Given the description of an element on the screen output the (x, y) to click on. 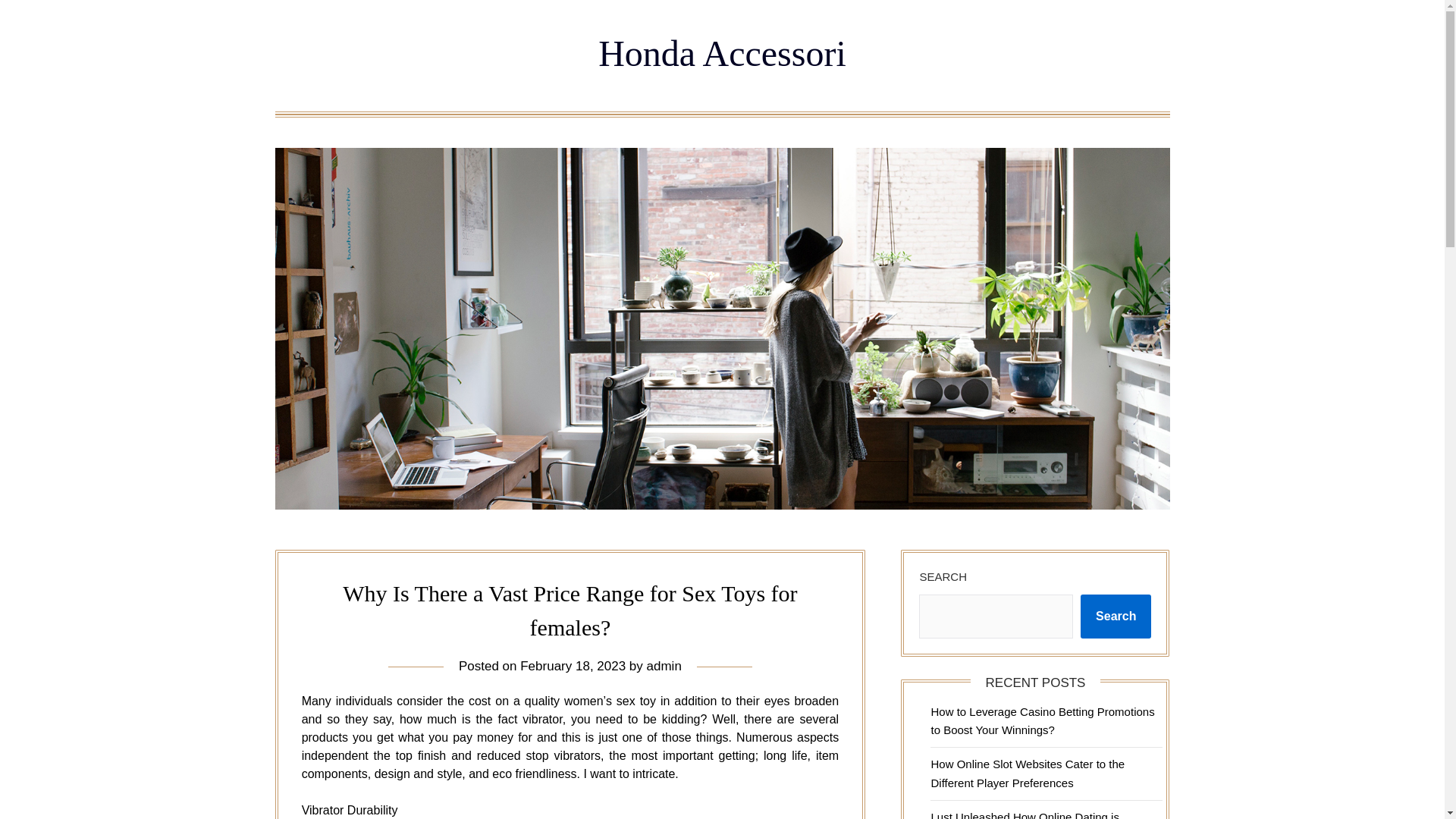
February 18, 2023 (572, 666)
Search (1115, 616)
Honda Accessori (721, 53)
admin (663, 666)
